Given the description of an element on the screen output the (x, y) to click on. 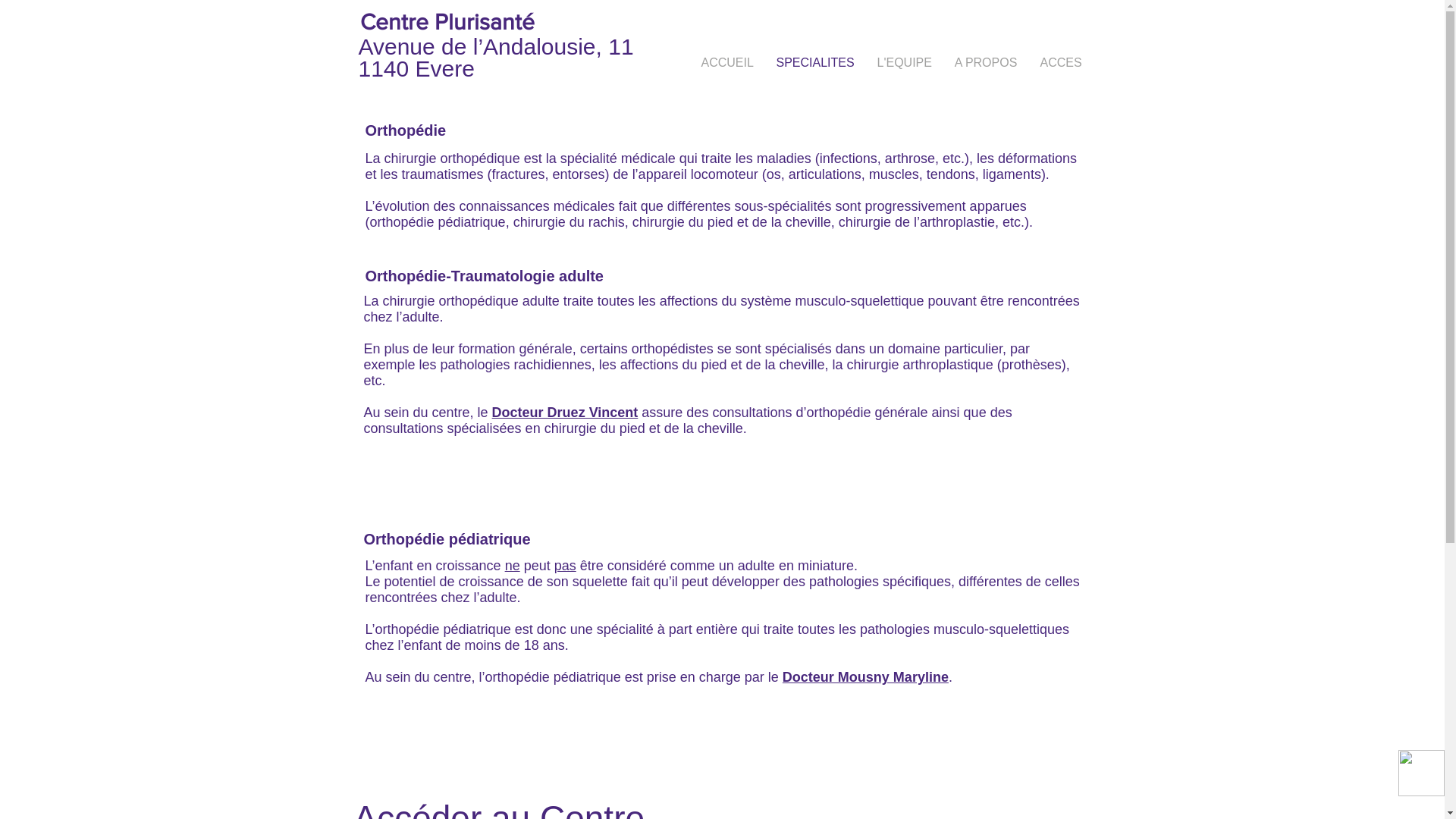
ACCUEIL Element type: text (727, 62)
Docteur Mousny Maryline Element type: text (865, 676)
SPECIALITES Element type: text (814, 62)
L'EQUIPE Element type: text (904, 62)
ACCES Element type: text (1060, 62)
Docteur Druez Vincent Element type: text (565, 412)
A PROPOS Element type: text (986, 62)
